Given the description of an element on the screen output the (x, y) to click on. 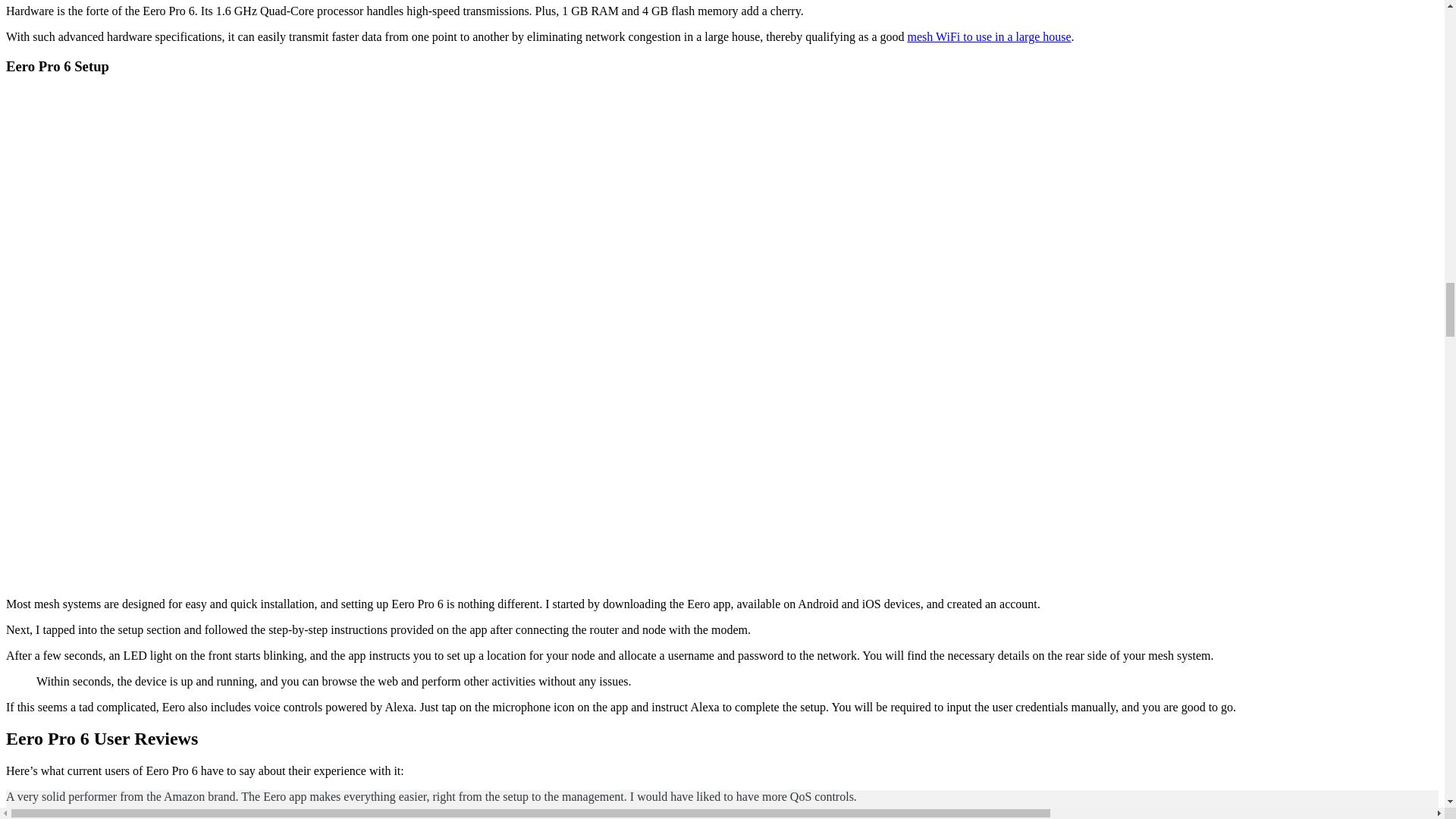
mesh WiFi to use in a large house (988, 36)
